Given the description of an element on the screen output the (x, y) to click on. 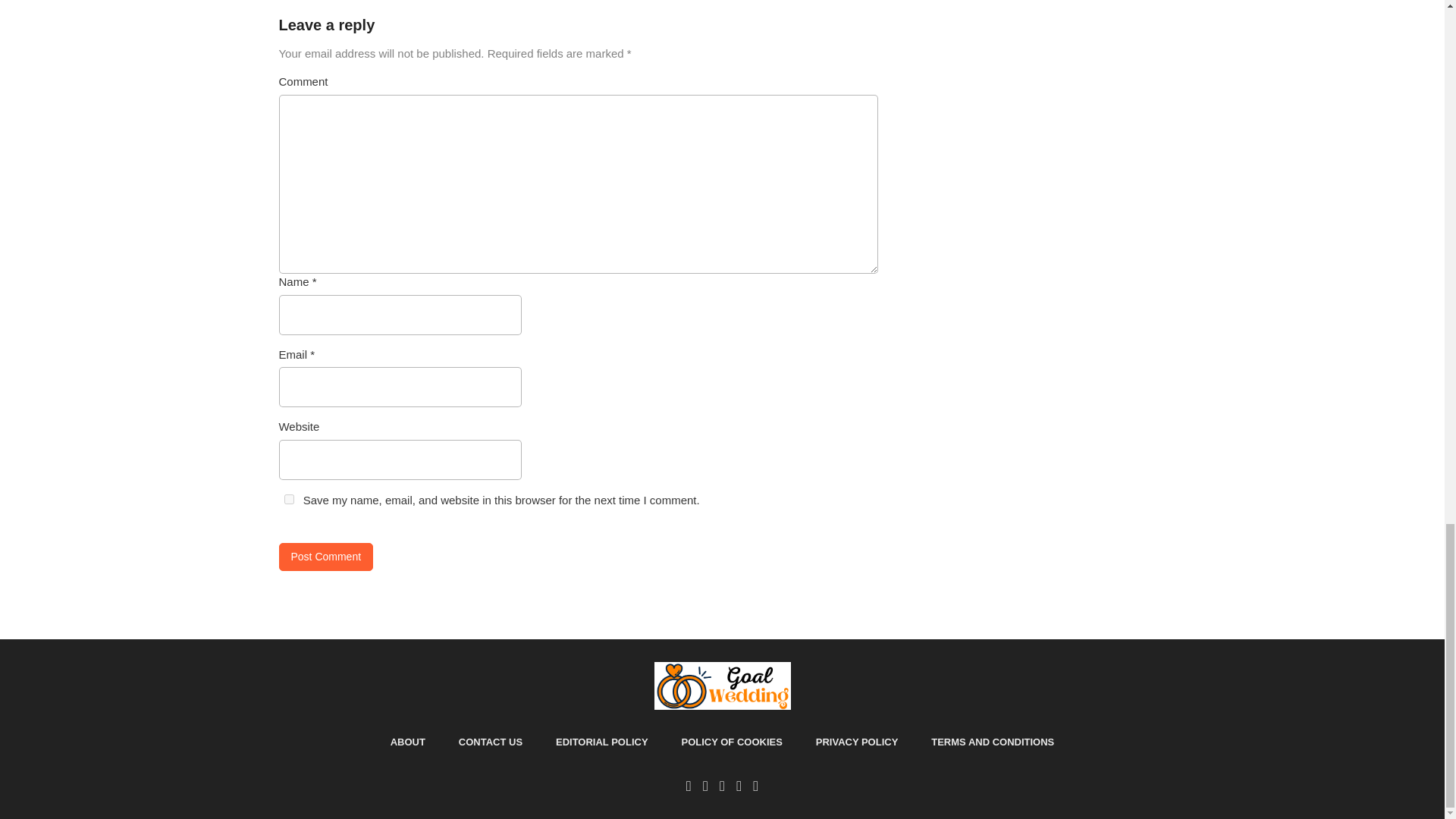
Post Comment (326, 556)
Post Comment (326, 556)
yes (288, 499)
